Given the description of an element on the screen output the (x, y) to click on. 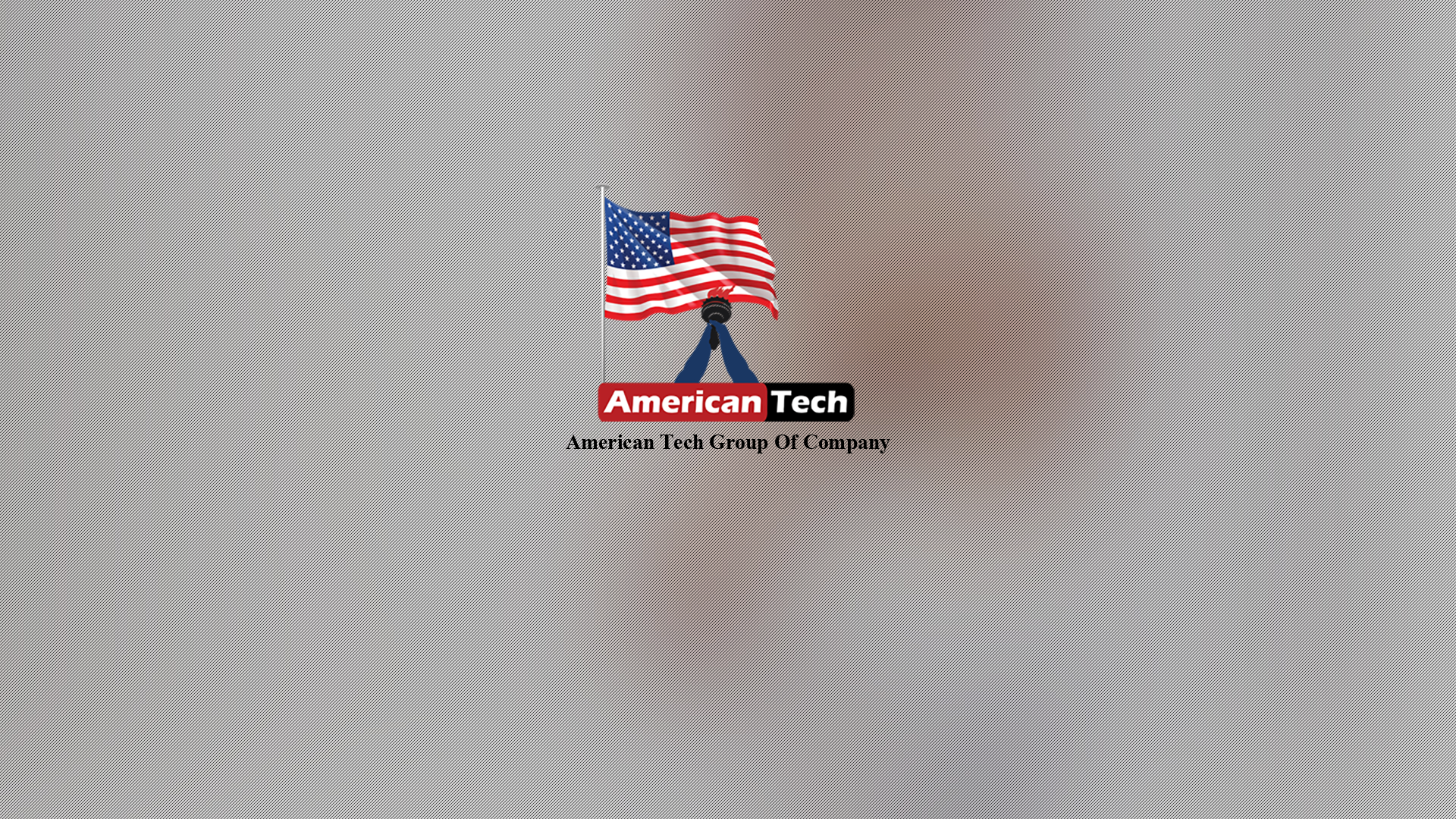
Contact (132, 355)
Products (132, 288)
Send (176, 421)
Home (132, 222)
About Us (132, 255)
Parteners (132, 322)
